Given the description of an element on the screen output the (x, y) to click on. 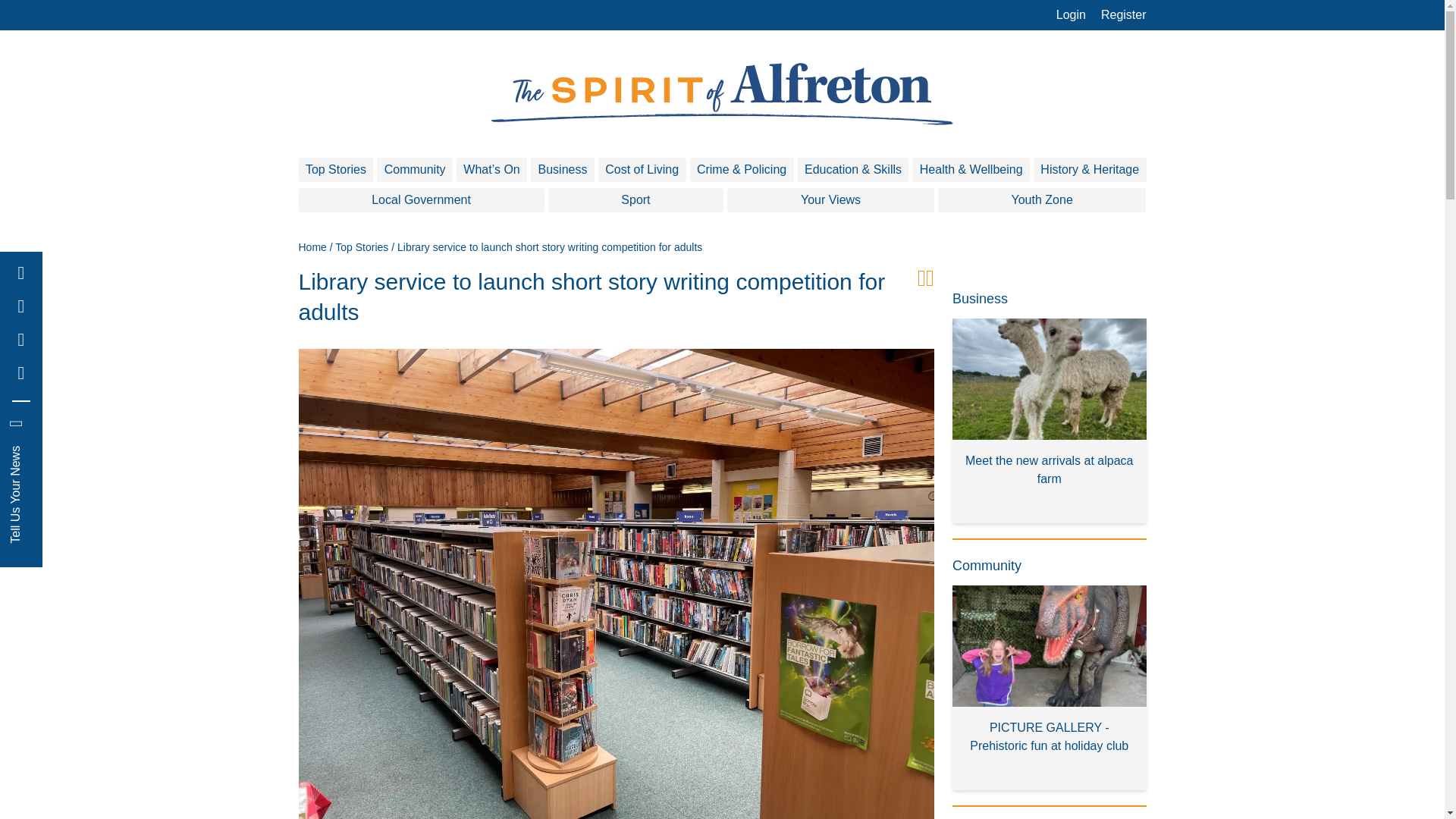
The Spirit of Alfreton (721, 93)
Business (562, 169)
Community (414, 169)
Local Government (421, 200)
Home (312, 246)
Youth Zone (1042, 200)
Your Views (830, 200)
Top Stories (336, 169)
Meet the new arrivals at alpaca farm (1049, 420)
Top Stories (361, 246)
